Given the description of an element on the screen output the (x, y) to click on. 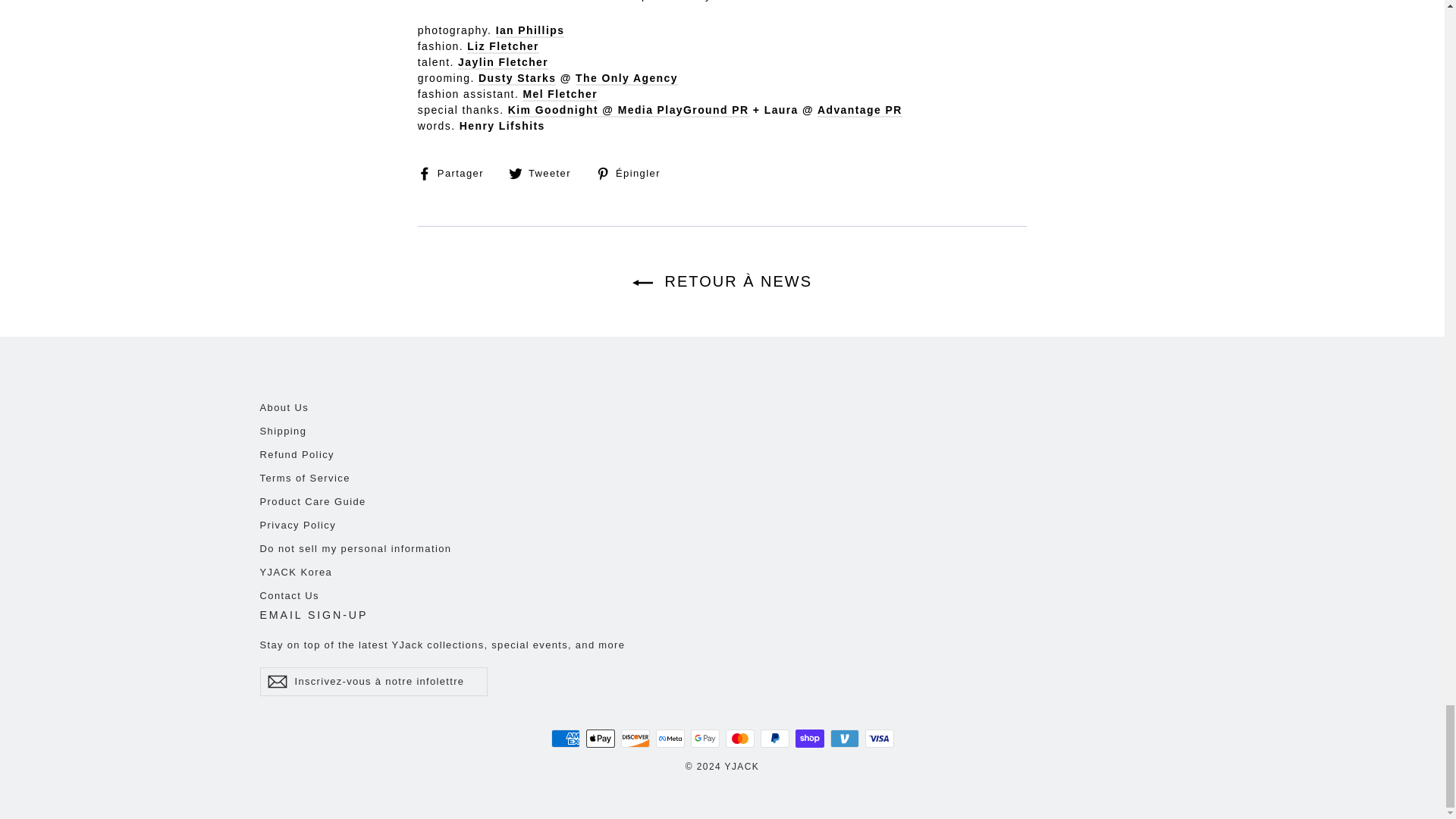
Venmo (844, 738)
Discover (634, 738)
Google Pay (704, 738)
Apple Pay (599, 738)
American Express (564, 738)
Shop Pay (809, 738)
Mastercard (739, 738)
Tweeter sur Twitter (545, 172)
PayPal (774, 738)
Partager sur Facebook (456, 172)
